Given the description of an element on the screen output the (x, y) to click on. 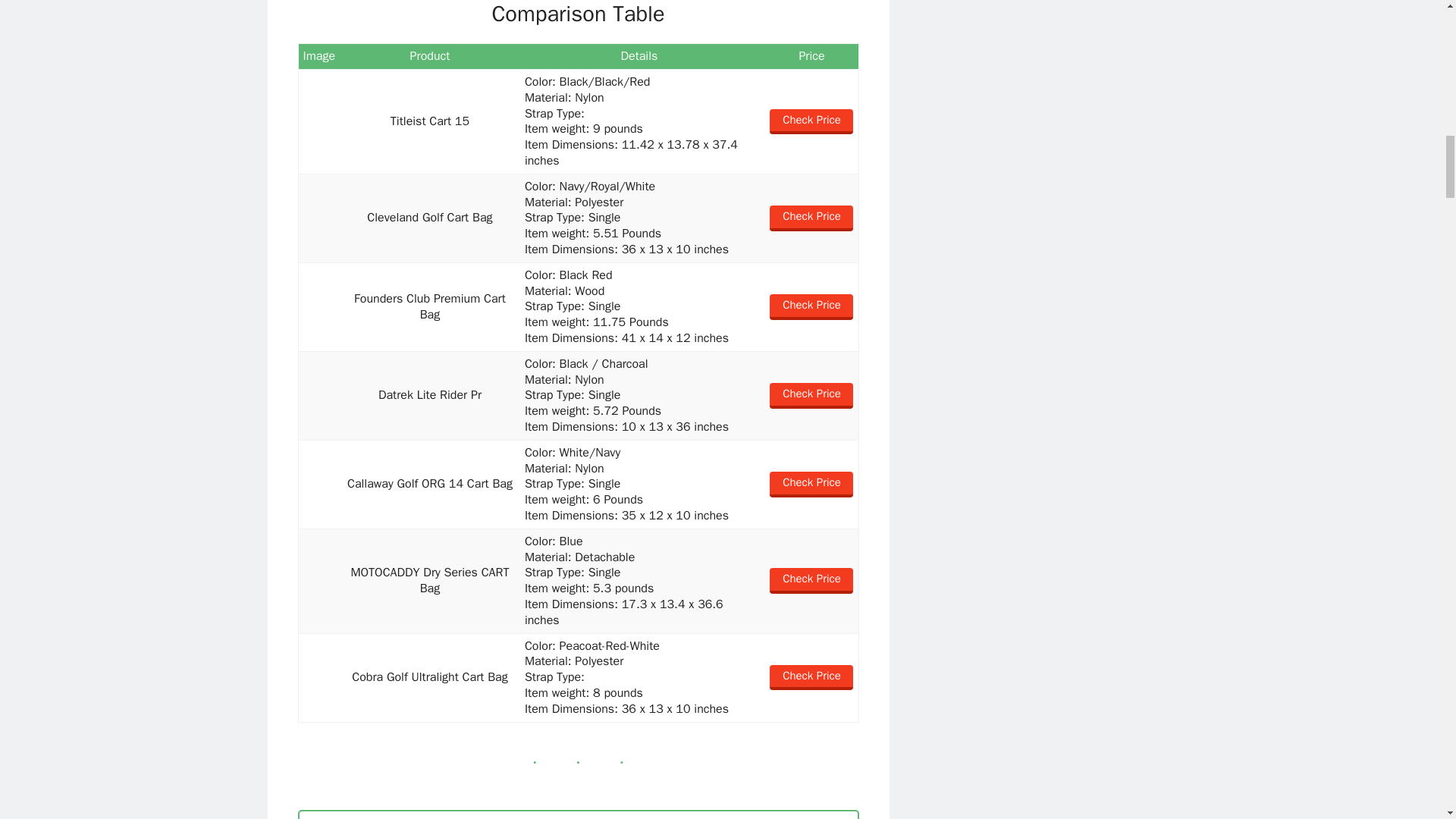
Cobra Golf Ultralight Cart Bag (319, 676)
Titleist Cart 15 golf bag (319, 121)
Cleveland Golf Cart Bag (319, 218)
Datrek Lite Rider Pro bag (319, 396)
MOTOCADDY Dry Series CART Bag (319, 581)
Founders Club Premium (319, 307)
Callaway Golf ORG 14 Cart Bag (319, 484)
